Given the description of an element on the screen output the (x, y) to click on. 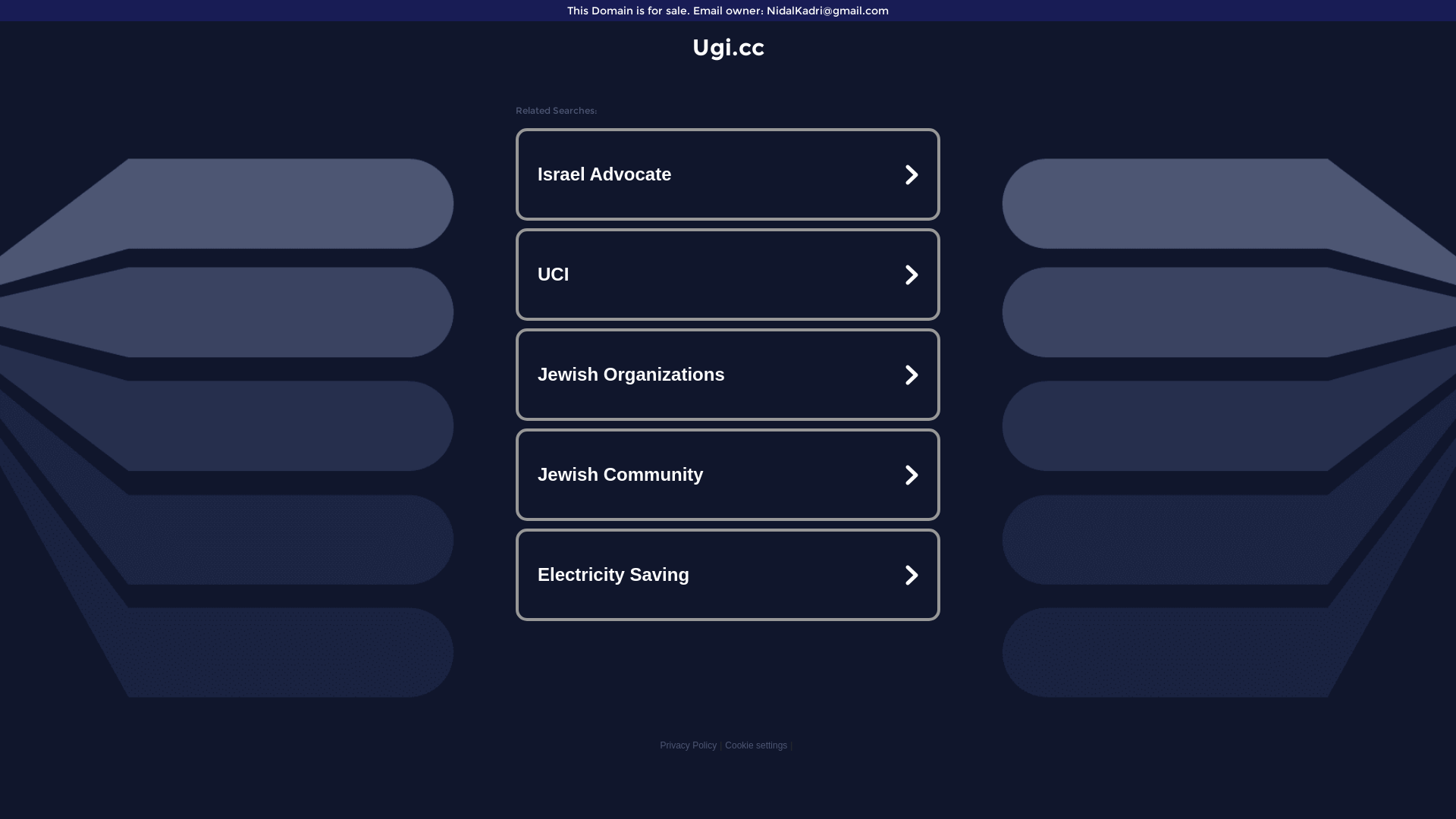
Electricity Saving Element type: text (727, 574)
This Domain is for sale. Email owner: NidalKadri@gmail.com Element type: text (727, 10)
UCI Element type: text (727, 274)
Jewish Organizations Element type: text (727, 374)
Jewish Community Element type: text (727, 474)
Israel Advocate Element type: text (727, 174)
Privacy Policy Element type: text (687, 745)
Ugi.cc Element type: text (727, 47)
Cookie settings Element type: text (755, 745)
